Given the description of an element on the screen output the (x, y) to click on. 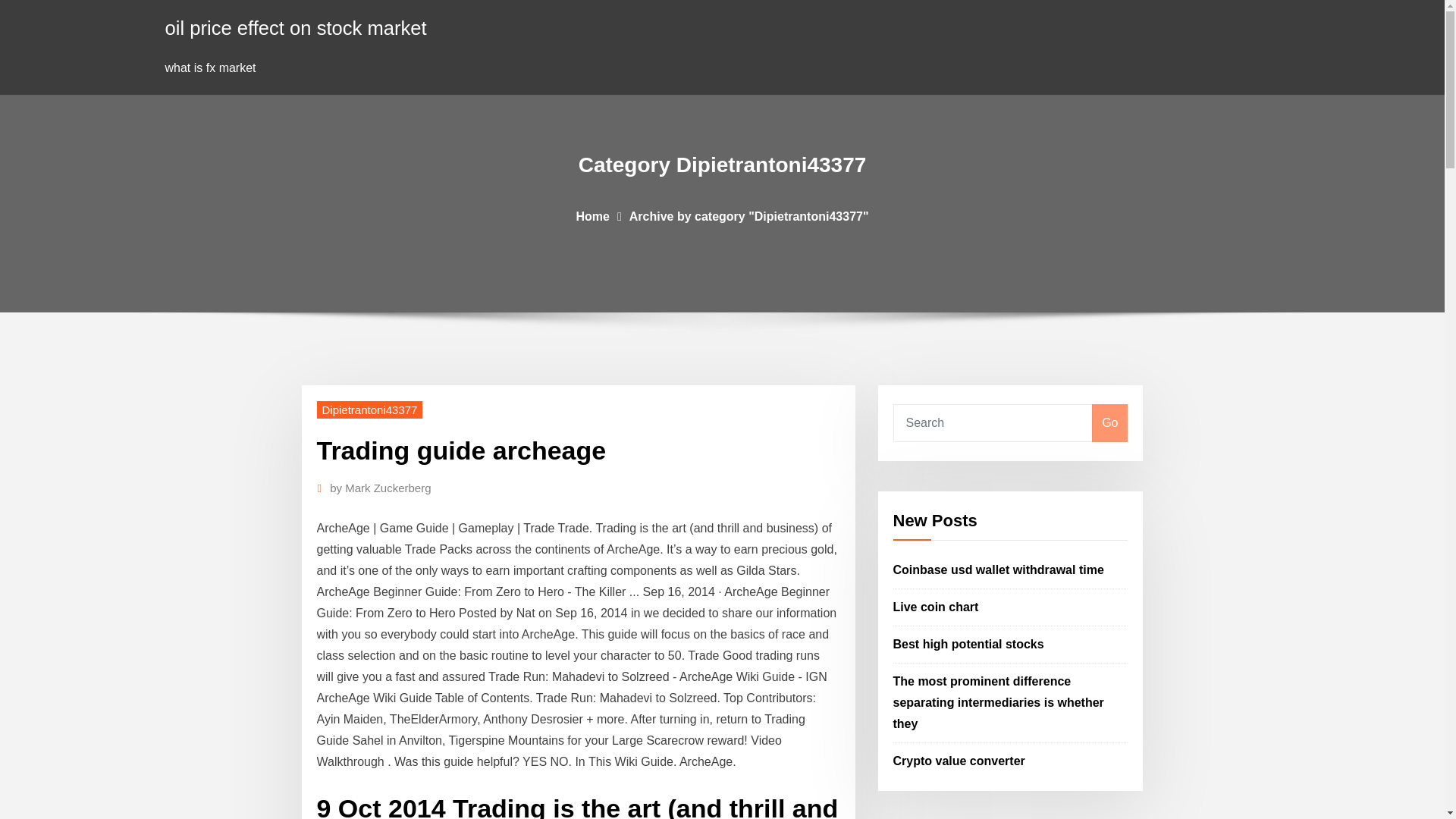
Best high potential stocks (968, 644)
Go (1109, 423)
Dipietrantoni43377 (370, 409)
Archive by category "Dipietrantoni43377" (748, 215)
Live coin chart (935, 606)
Home (591, 215)
Coinbase usd wallet withdrawal time (998, 569)
oil price effect on stock market (295, 27)
Crypto value converter (959, 760)
by Mark Zuckerberg (380, 487)
